Given the description of an element on the screen output the (x, y) to click on. 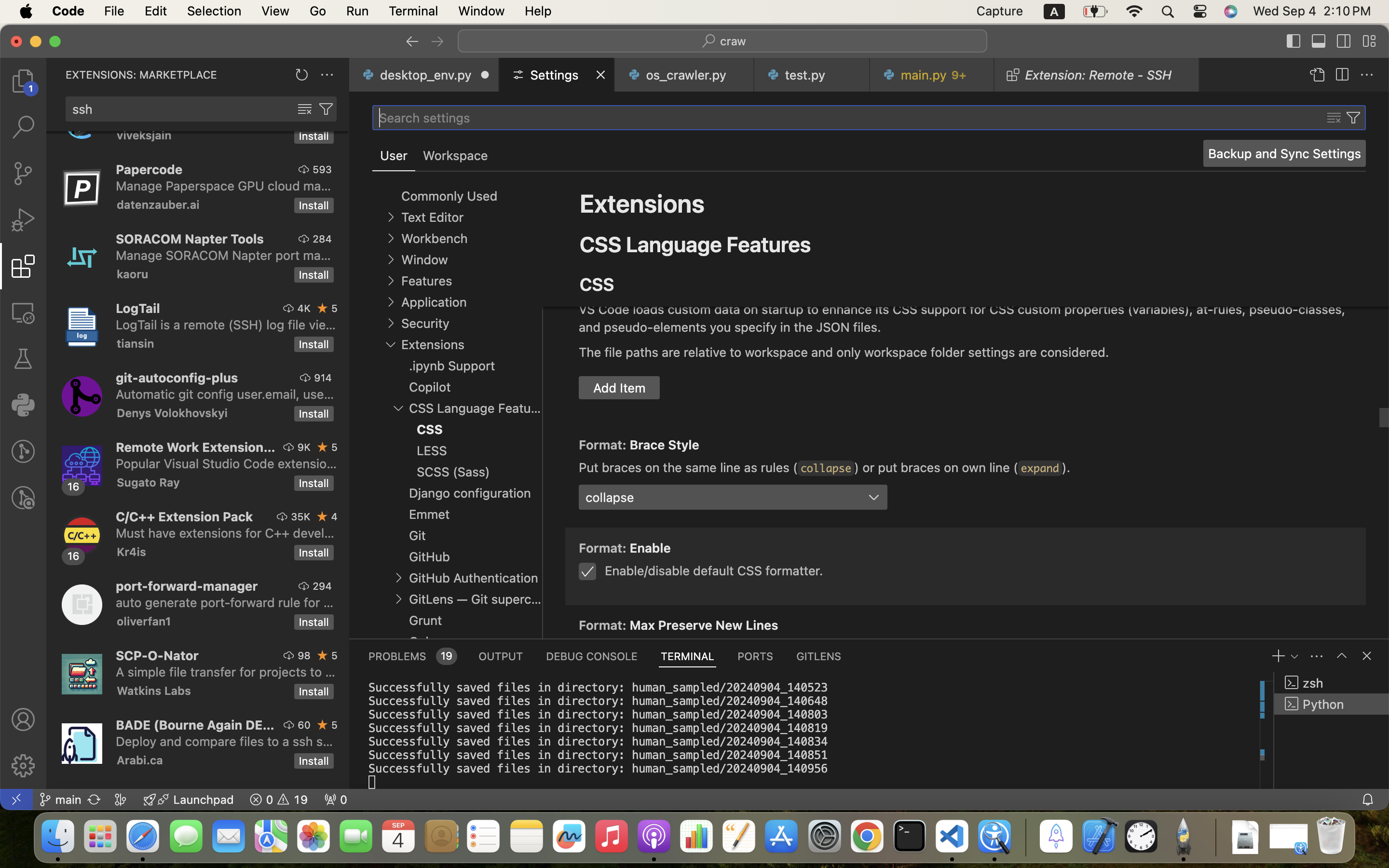
LESS Element type: AXStaticText (431, 450)
Python  Element type: AXGroup (1331, 703)
datenzauber.ai Element type: AXStaticText (157, 204)
 Element type: AXGroup (23, 358)
 0 Element type: AXButton (335, 799)
